Given the description of an element on the screen output the (x, y) to click on. 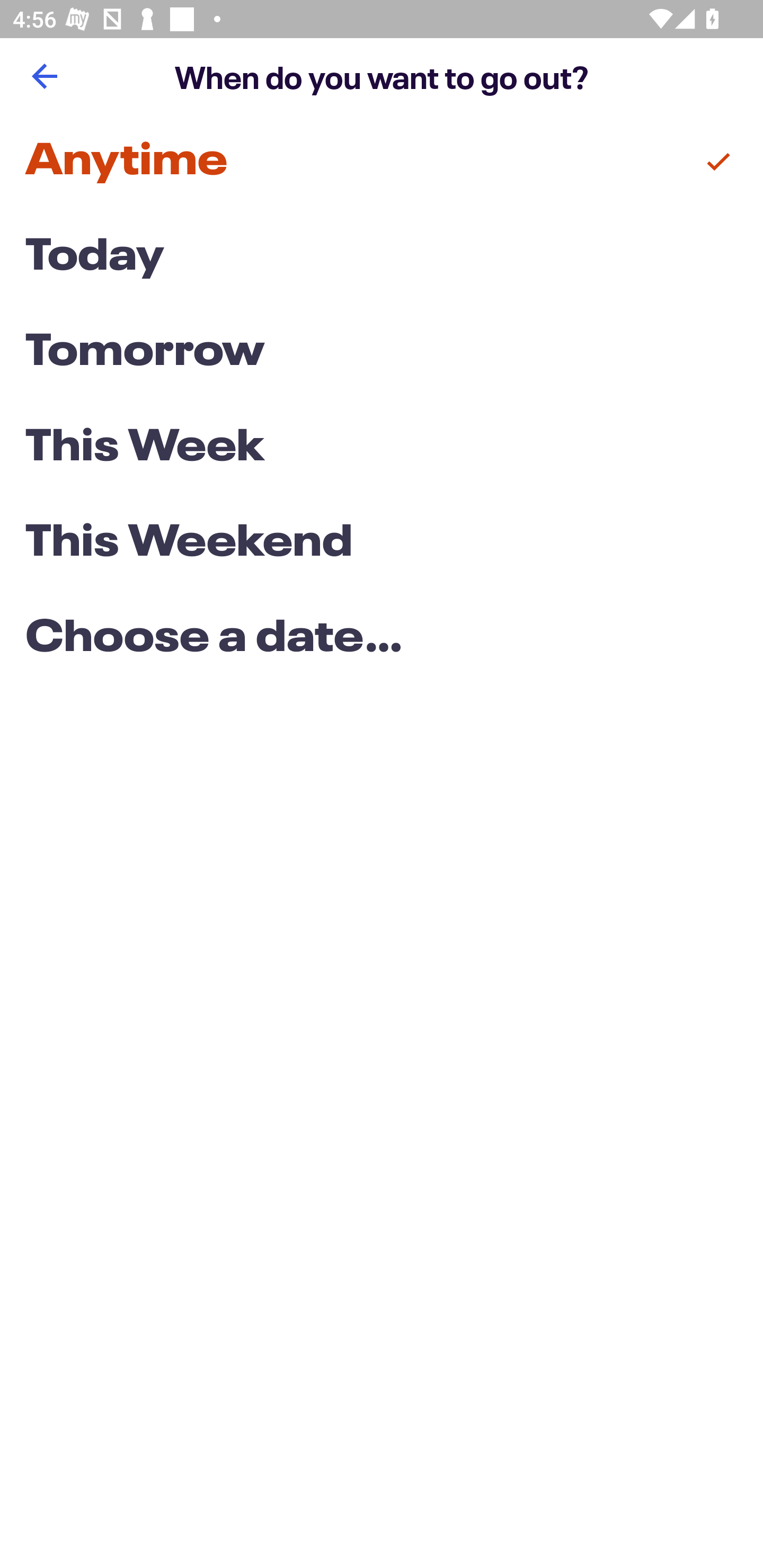
Back button (44, 75)
Anytime (381, 161)
Today (381, 257)
Tomorrow (381, 352)
This Week (381, 447)
This Weekend (381, 542)
Choose a date… (381, 638)
